Given the description of an element on the screen output the (x, y) to click on. 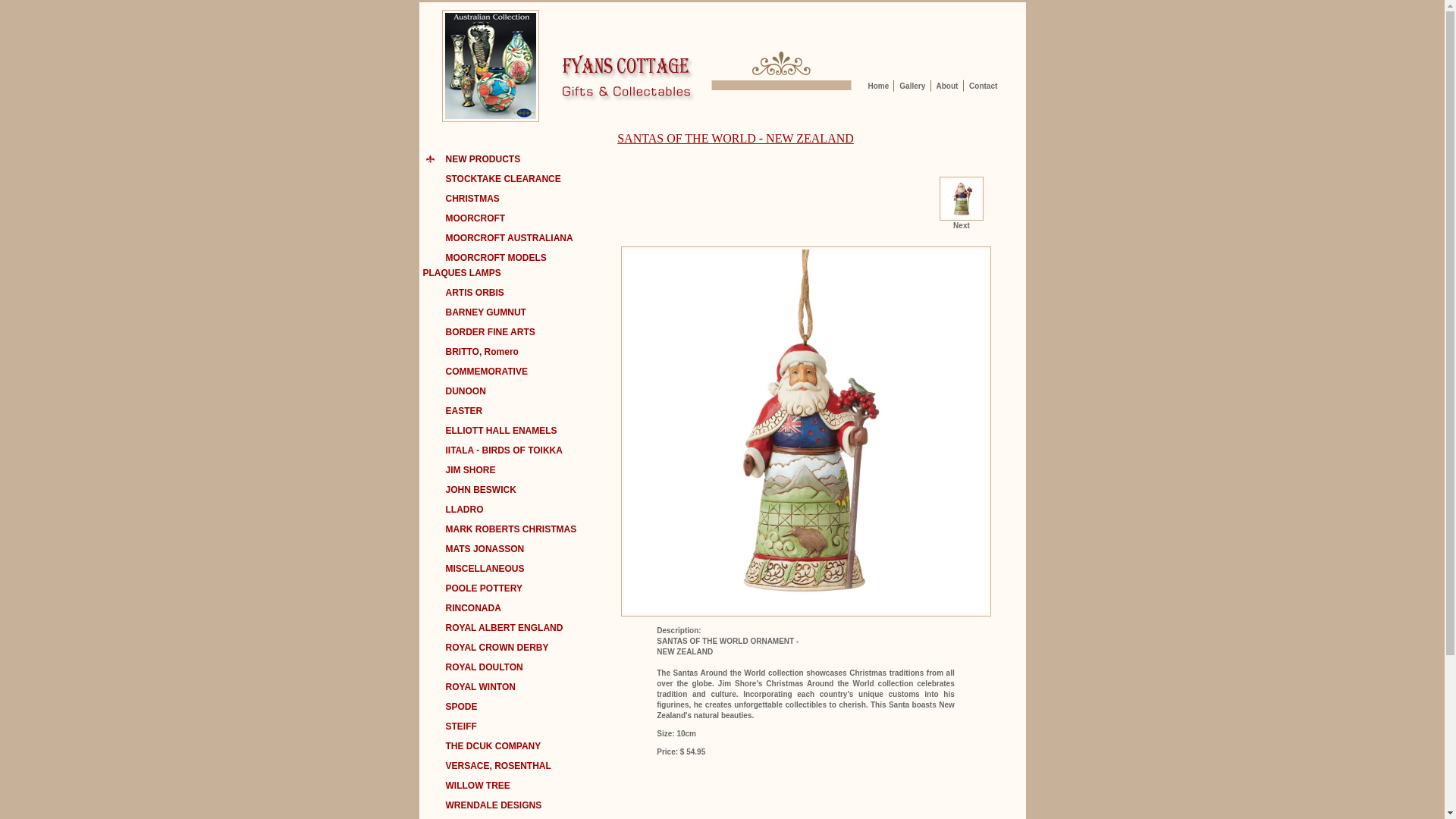
ROYAL WINTON Element type: text (469, 686)
DUNOON Element type: text (454, 390)
BARNEY GUMNUT Element type: text (474, 312)
VERSACE, ROSENTHAL Element type: text (487, 765)
MISCELLANEOUS Element type: text (473, 568)
SPODE Element type: text (450, 706)
Home Element type: text (877, 85)
STOCKTAKE CLEARANCE Element type: text (492, 178)
About Element type: text (946, 85)
WRENDALE DESIGNS Element type: text (482, 805)
STEIFF Element type: text (449, 726)
ELLIOTT HALL ENAMELS Element type: text (490, 430)
ROYAL ALBERT ENGLAND Element type: text (493, 627)
CHRISTMAS Element type: text (461, 198)
MOORCROFT AUSTRALIANA Element type: text (498, 237)
ROYAL CROWN DERBY Element type: text (486, 647)
ARTIS ORBIS Element type: text (463, 292)
LLADRO Element type: text (453, 509)
ROYAL DOULTON Element type: text (473, 667)
BORDER FINE ARTS Element type: text (479, 331)
MOORCROFT Element type: text (464, 218)
Contact Element type: text (983, 85)
IITALA - BIRDS OF TOIKKA Element type: text (492, 450)
JOHN BESWICK Element type: text (469, 489)
WILLOW TREE Element type: text (466, 785)
MARK ROBERTS CHRISTMAS Element type: text (500, 529)
MATS JONASSON Element type: text (473, 548)
POOLE POTTERY Element type: text (473, 588)
RINCONADA Element type: text (462, 607)
COMMEMORATIVE Element type: text (475, 371)
MOORCROFT MODELS PLAQUES LAMPS Element type: text (484, 265)
Gallery Element type: text (912, 85)
BRITTO, Romero Element type: text (470, 351)
THE DCUK COMPANY Element type: text (482, 745)
NEW PRODUCTS Element type: text (471, 158)
EASTER Element type: text (453, 410)
JIM SHORE Element type: text (459, 469)
